Given the description of an element on the screen output the (x, y) to click on. 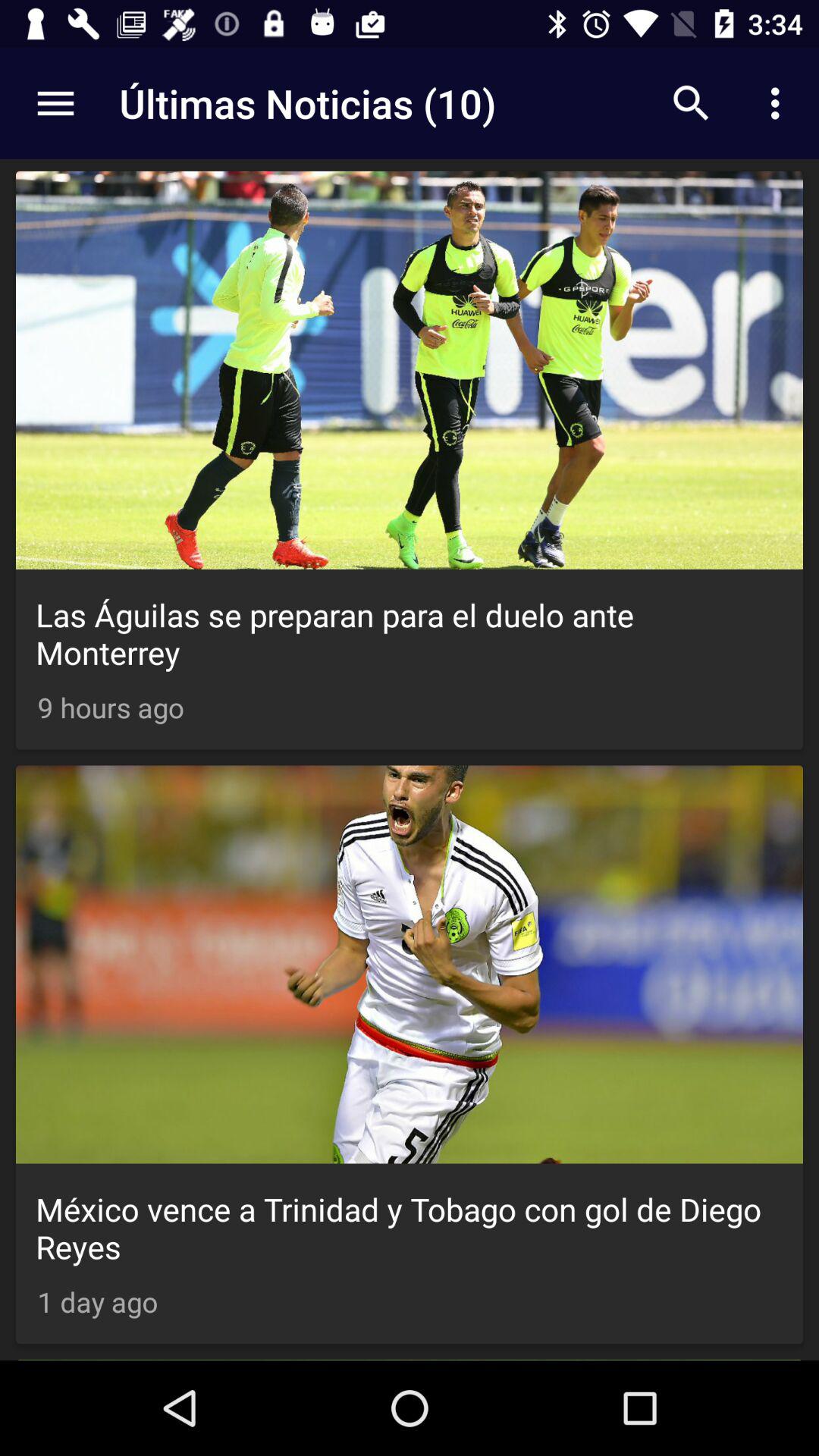
click on the button beside search icon (779, 103)
click on search button (691, 103)
